Given the description of an element on the screen output the (x, y) to click on. 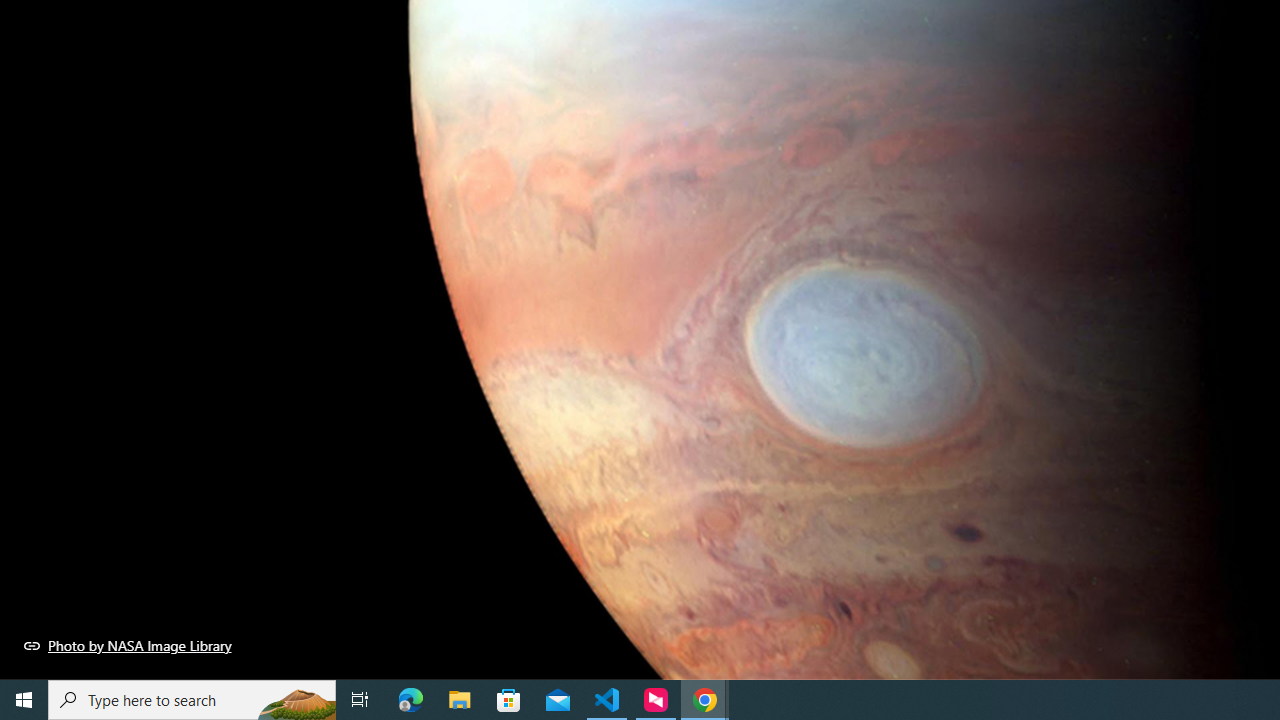
Photo by NASA Image Library (127, 645)
